Given the description of an element on the screen output the (x, y) to click on. 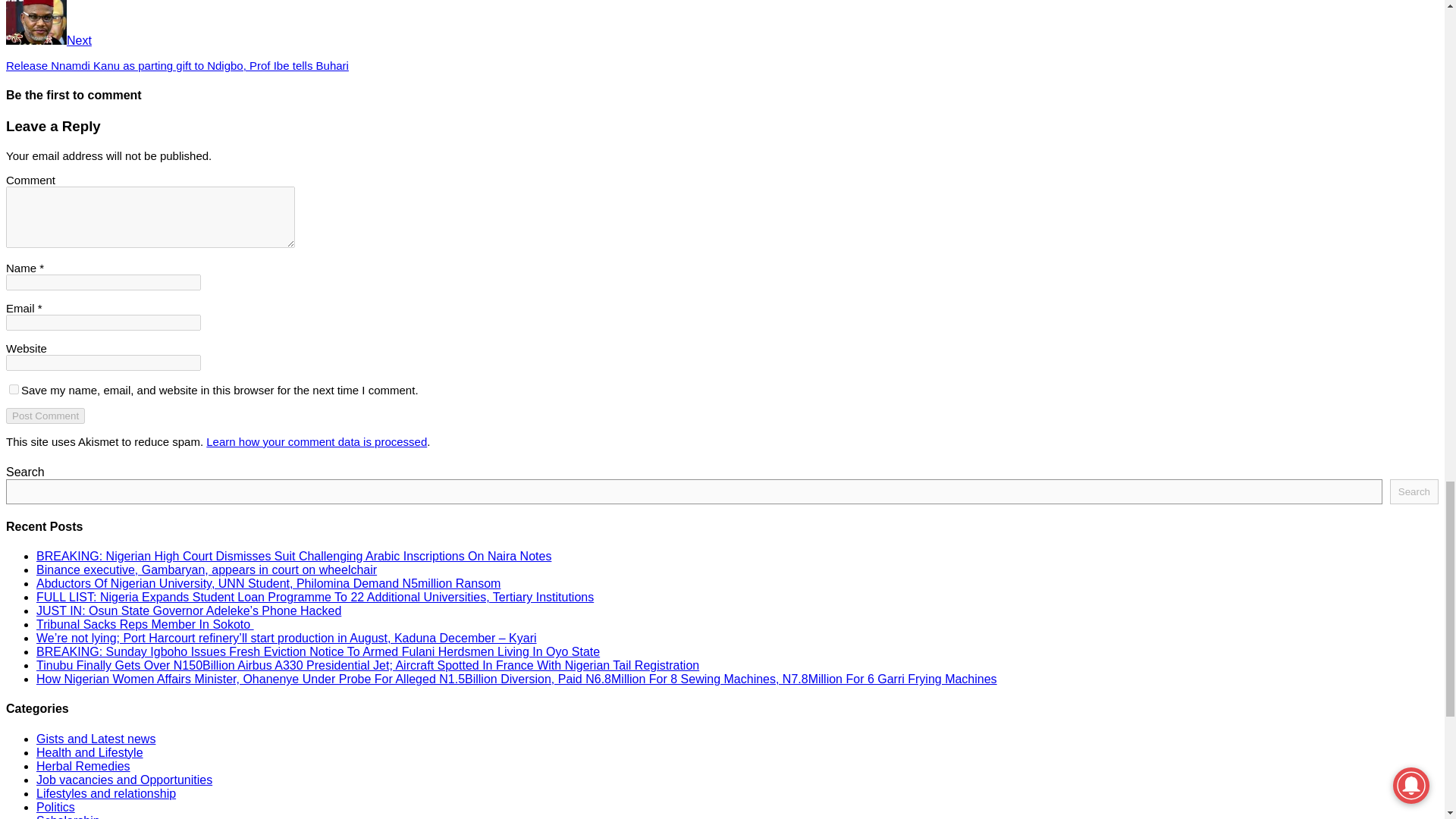
Learn how your comment data is processed (316, 440)
Binance executive, Gambaryan, appears in court on wheelchair (206, 569)
yes (13, 388)
Post Comment (44, 415)
Post Comment (44, 415)
